Given the description of an element on the screen output the (x, y) to click on. 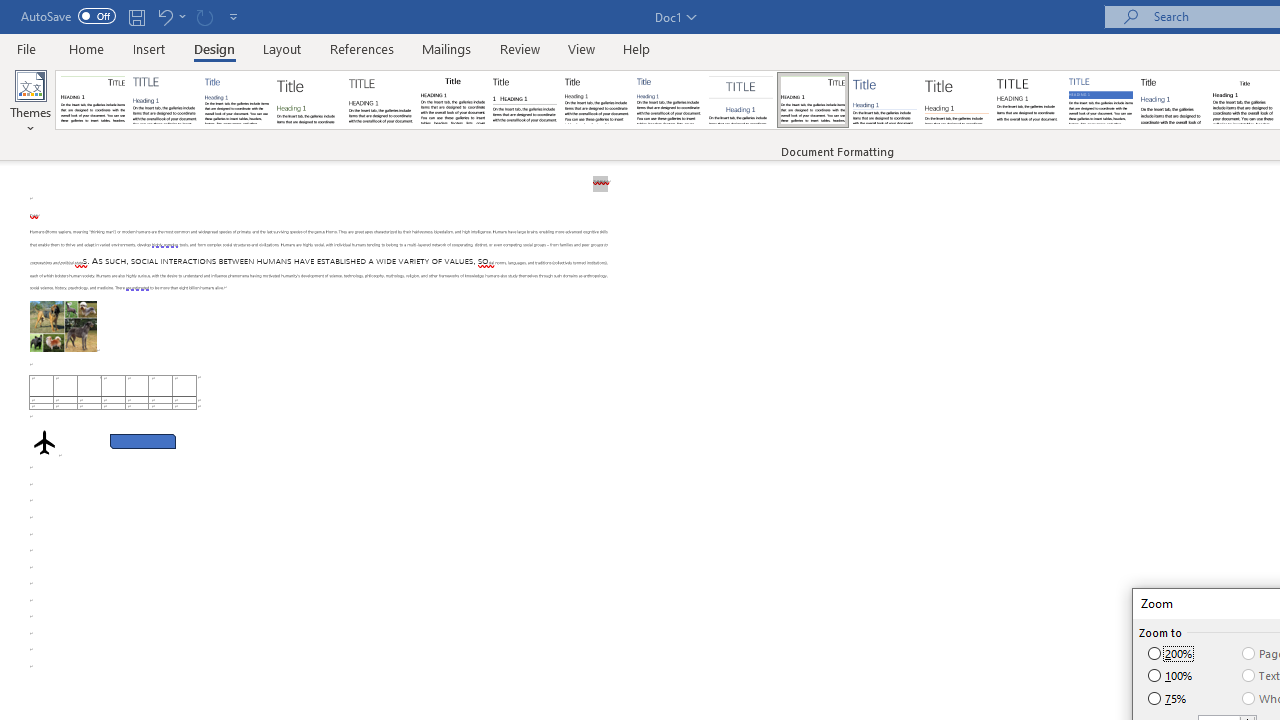
Black & White (Word 2013) (596, 100)
Lines (Stylish) (957, 100)
100% (1171, 675)
75% (1168, 699)
200% (1171, 653)
Black & White (Classic) (452, 100)
Undo Apply Quick Style Set (170, 15)
Centered (740, 100)
